Given the description of an element on the screen output the (x, y) to click on. 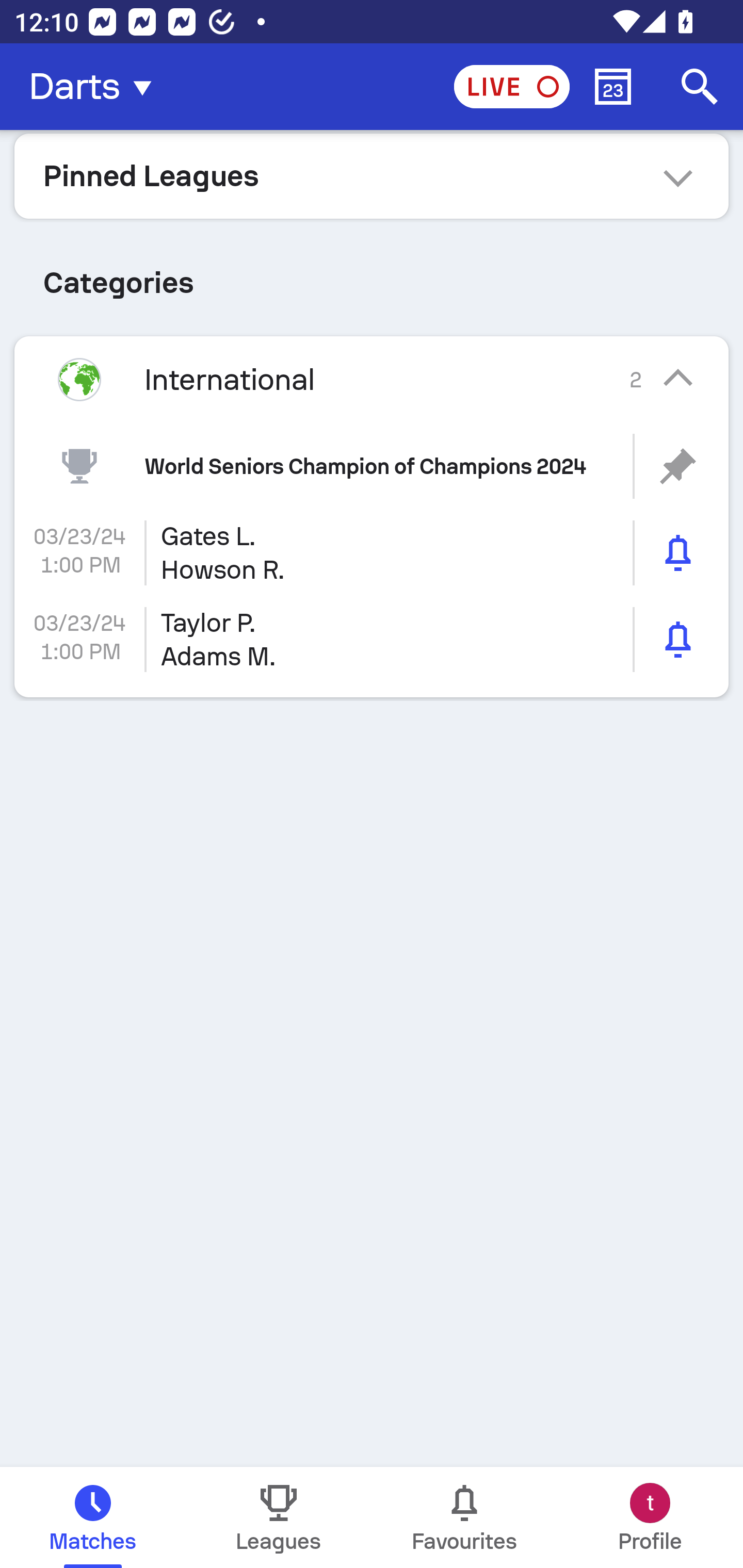
Darts (96, 86)
Calendar (612, 86)
Search (699, 86)
Pinned Leagues (371, 175)
Categories (371, 275)
International 2 (371, 379)
World Seniors Champion of Champions 2024 (371, 466)
03/23/24 1:00 PM Gates L. Howson R. (371, 552)
03/23/24 1:00 PM Taylor P. Adams M. (371, 639)
Leagues (278, 1517)
Favourites (464, 1517)
Profile (650, 1517)
